Given the description of an element on the screen output the (x, y) to click on. 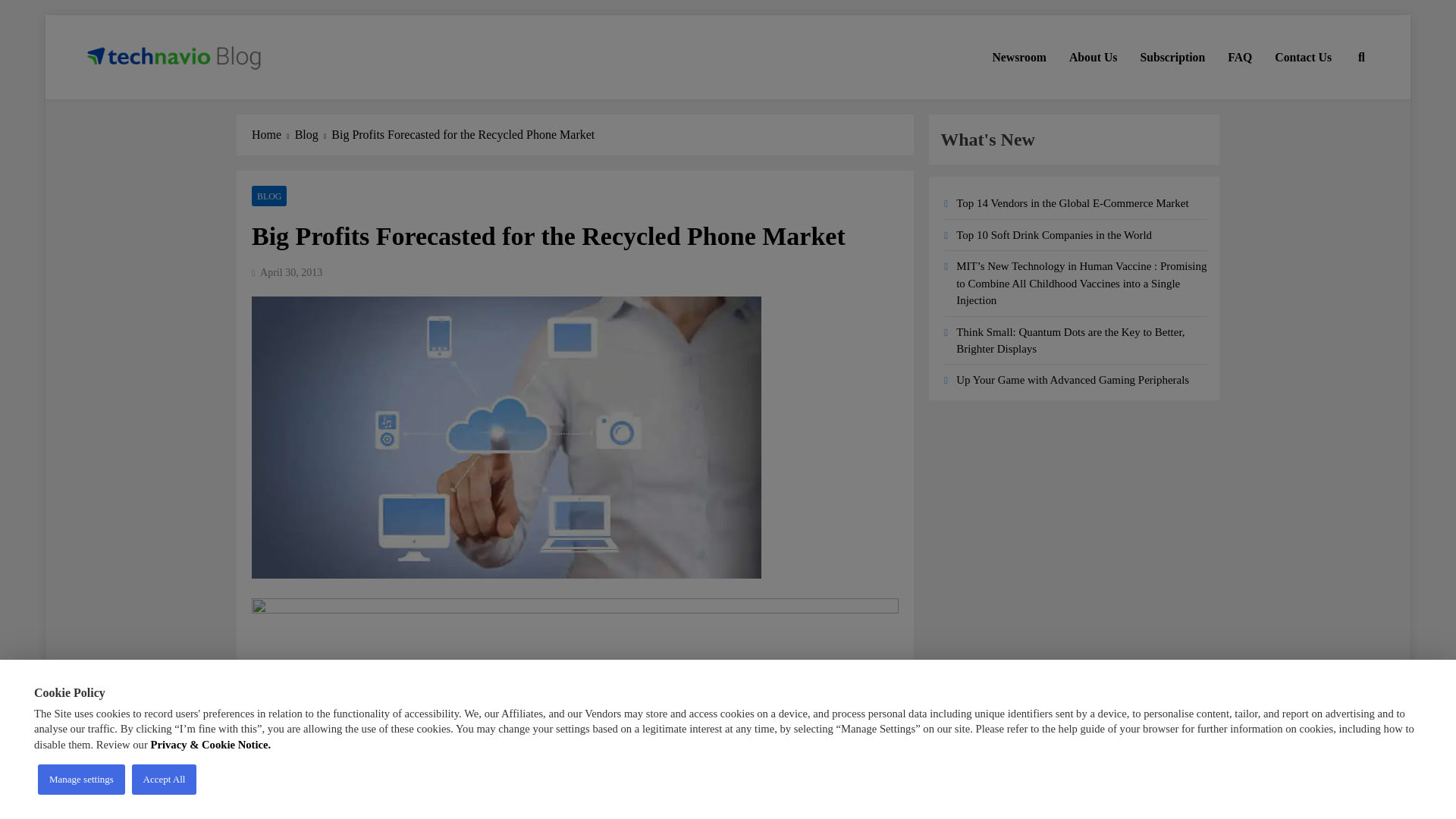
About Us (1093, 56)
April 30, 2013 (290, 272)
Technavio (138, 100)
Home (273, 135)
BLOG (268, 195)
FAQ (1239, 56)
Up Your Game with Advanced Gaming Peripherals (1072, 379)
Subscription (1171, 56)
Contact Us (1302, 56)
Newsroom (1019, 56)
Top 10 Soft Drink Companies in the World (1053, 234)
Blog (313, 135)
Top 14 Vendors in the Global E-Commerce Market (1072, 203)
